Given the description of an element on the screen output the (x, y) to click on. 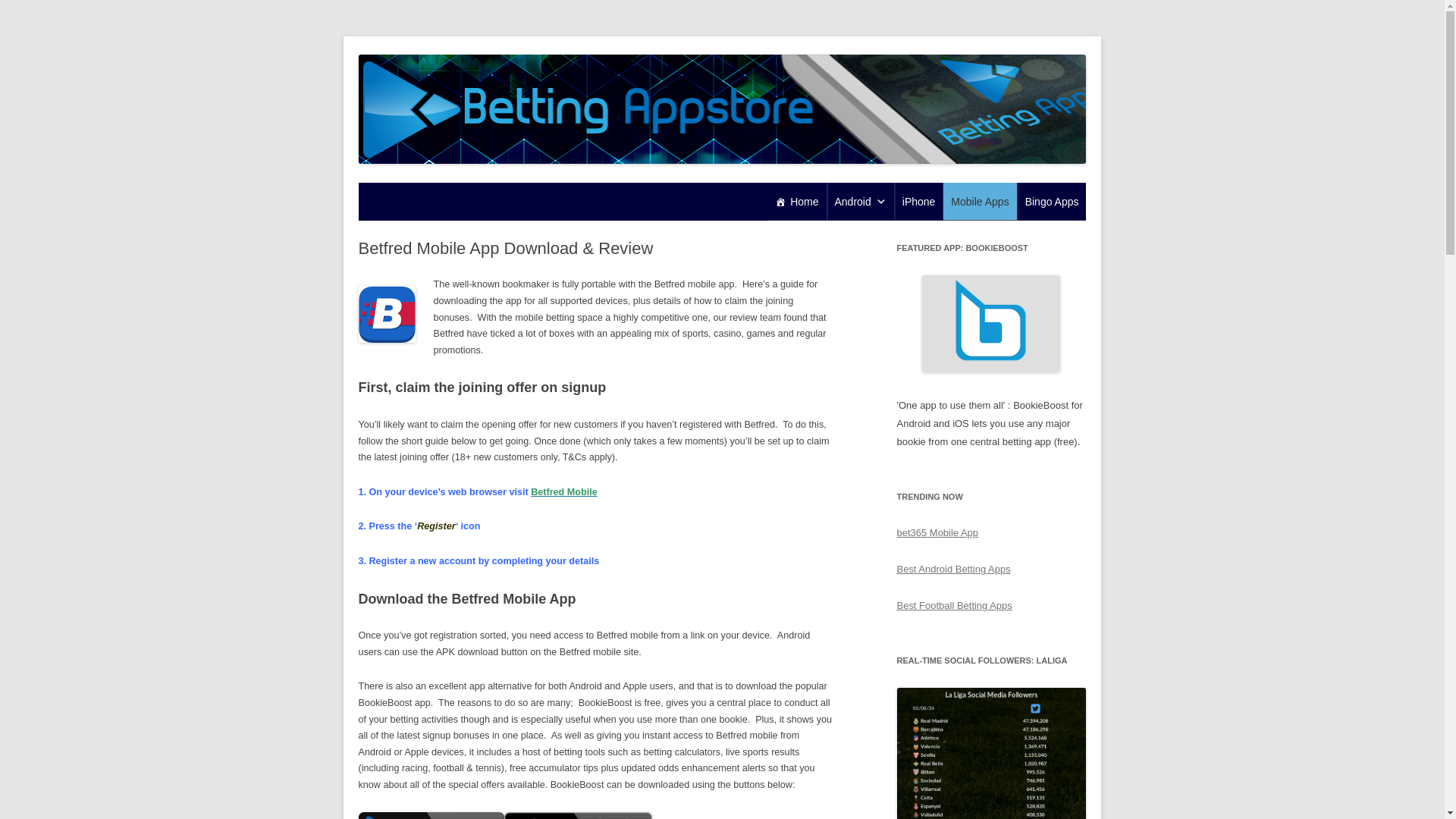
Best Football Betting Apps (953, 604)
Best Android Betting Apps (953, 568)
Betfred Mobile (563, 491)
Home (796, 201)
Android (860, 201)
Bingo Apps (1051, 201)
Mobile Apps (979, 201)
iPhone (919, 201)
bet365 Mobile App (937, 532)
